Given the description of an element on the screen output the (x, y) to click on. 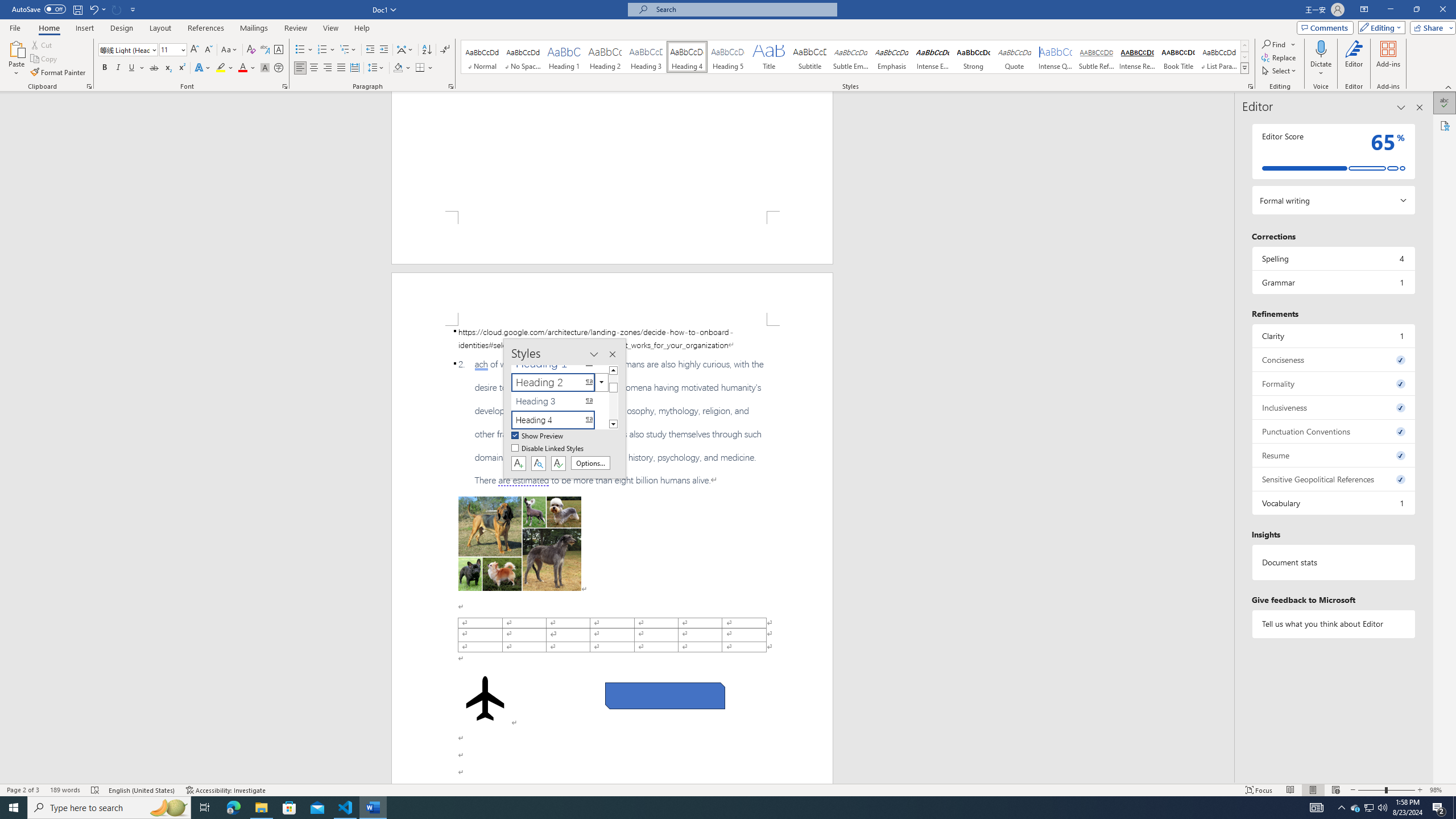
Heading 5 (727, 56)
Conciseness, 0 issues. Press space or enter to review items. (1333, 359)
Intense Quote (1055, 56)
